Given the description of an element on the screen output the (x, y) to click on. 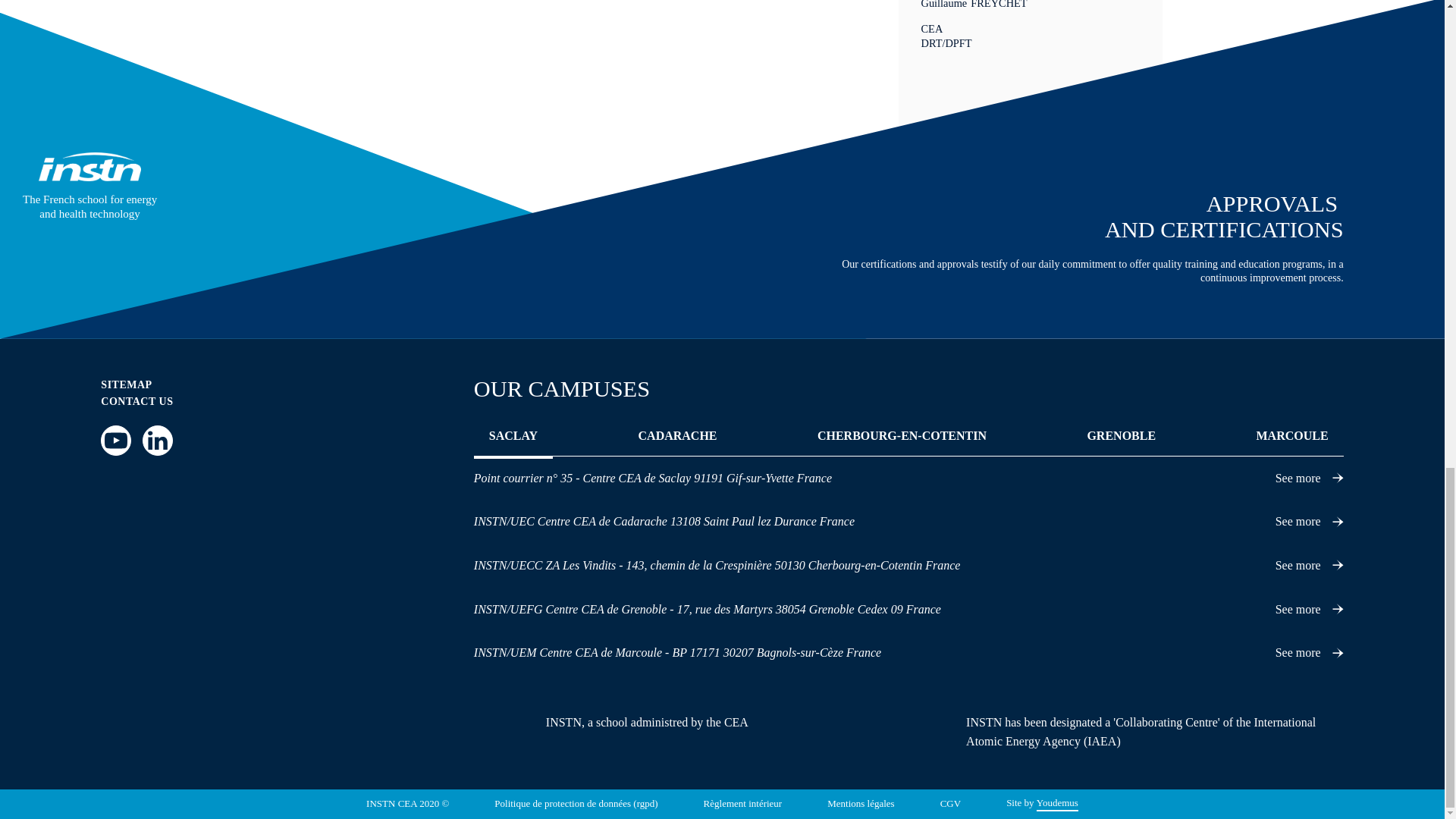
SITEMAP (125, 384)
